Given the description of an element on the screen output the (x, y) to click on. 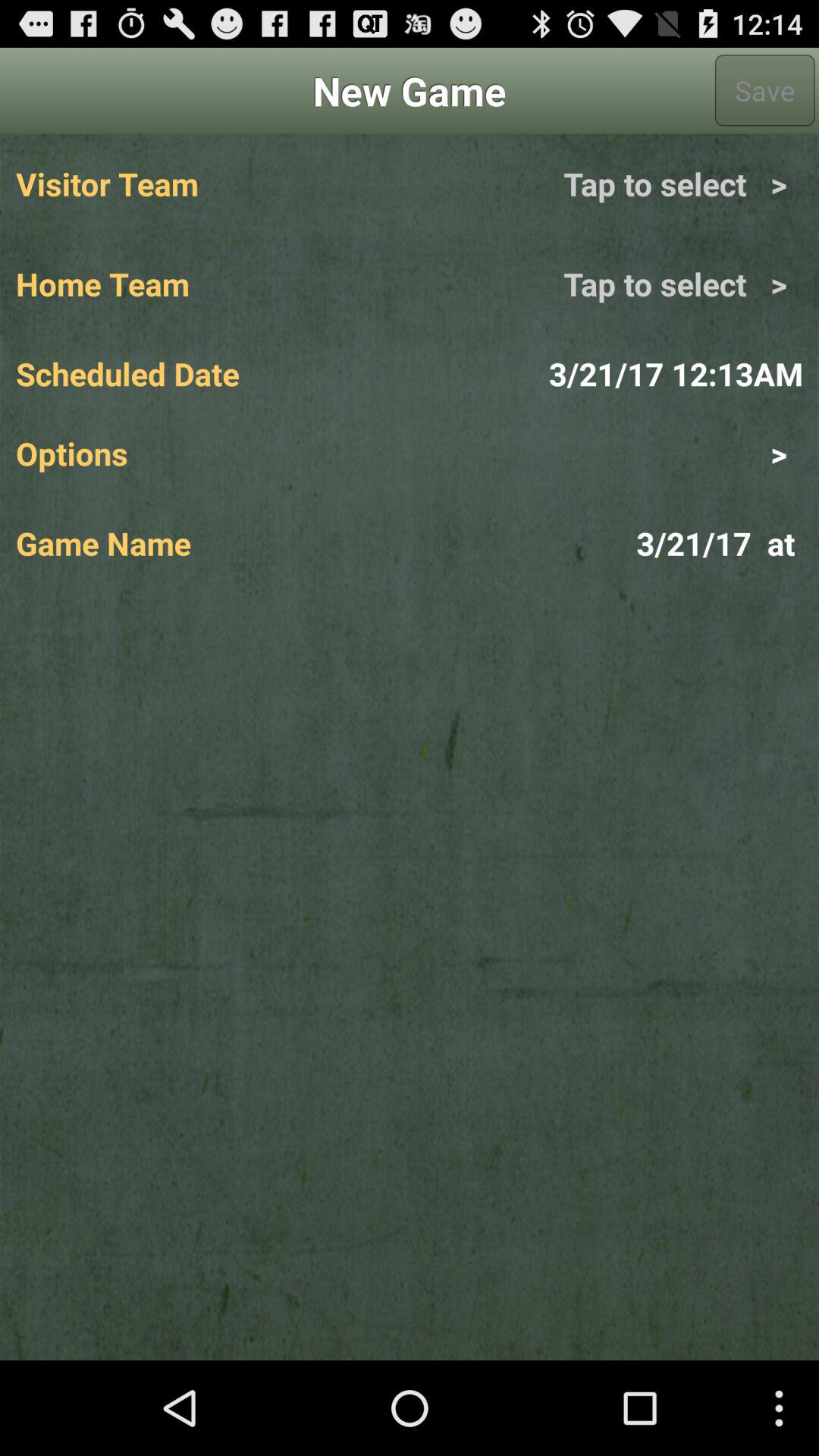
click the icon below the scheduled date app (606, 452)
